Given the description of an element on the screen output the (x, y) to click on. 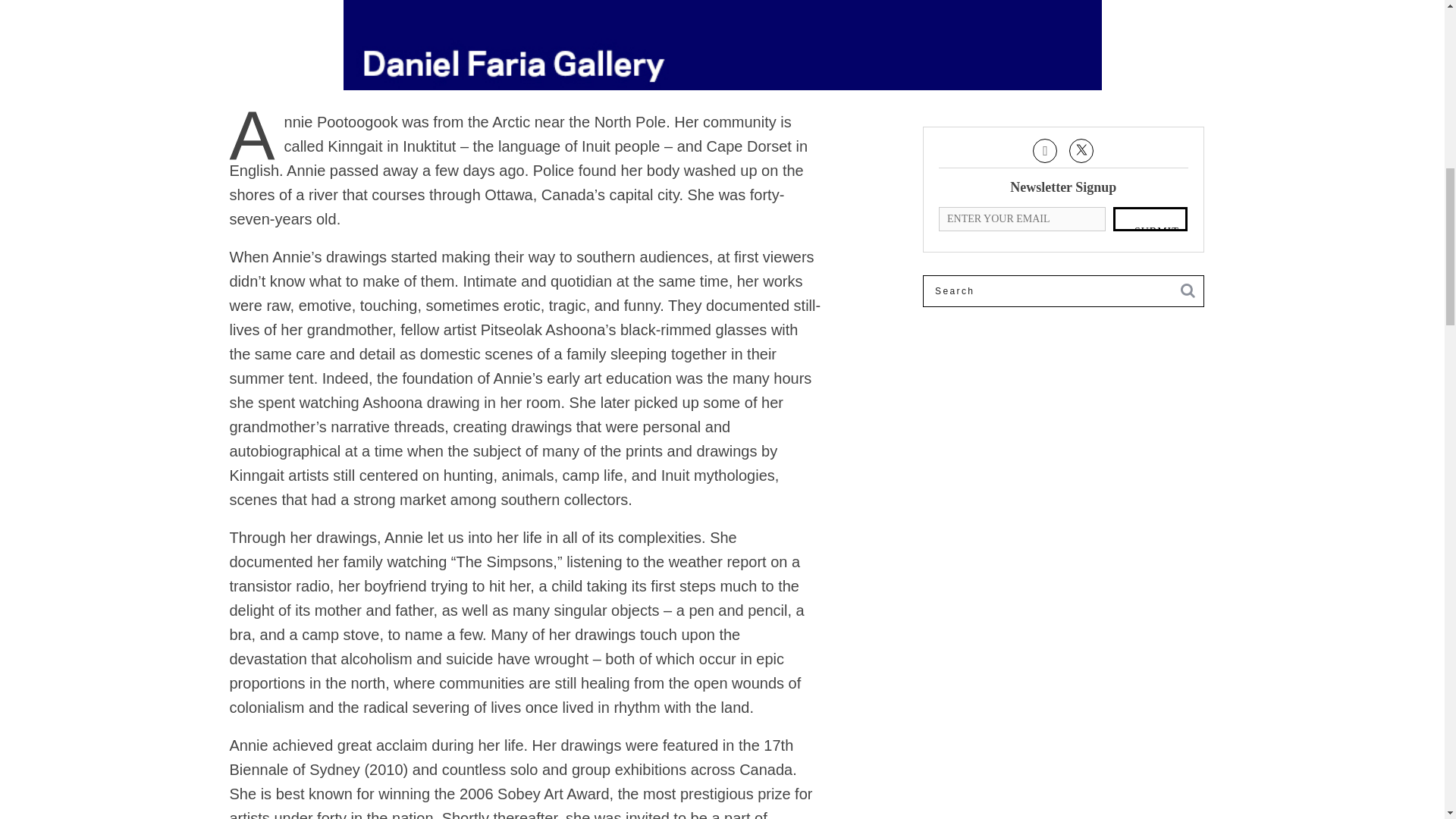
Search (1063, 291)
Submit (1150, 218)
